Given the description of an element on the screen output the (x, y) to click on. 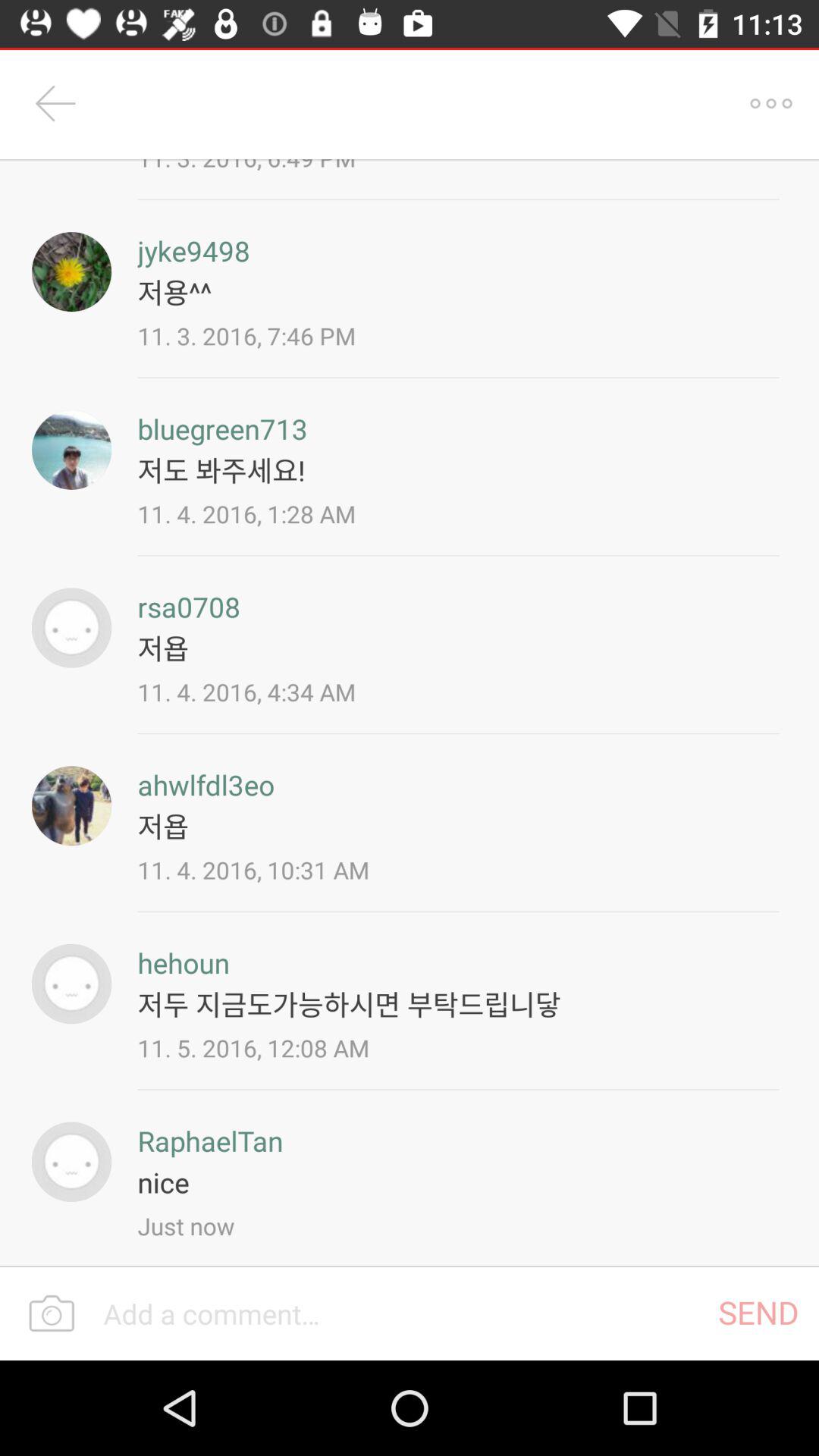
view profile (71, 271)
